Given the description of an element on the screen output the (x, y) to click on. 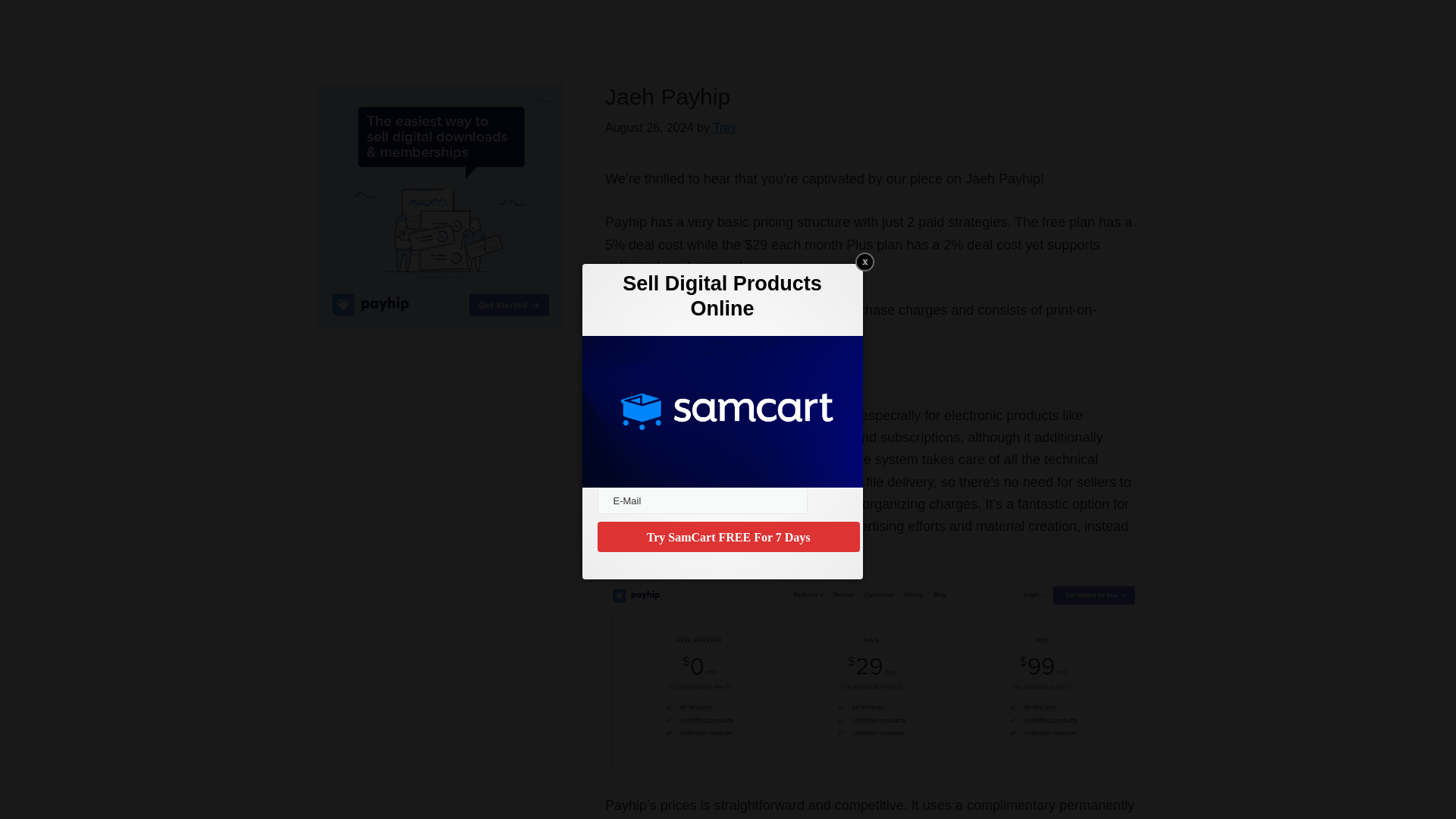
Try SamCart FREE For 7 Days (728, 536)
Try SamCart FREE For 7 Days (728, 536)
Trey (724, 127)
